Given the description of an element on the screen output the (x, y) to click on. 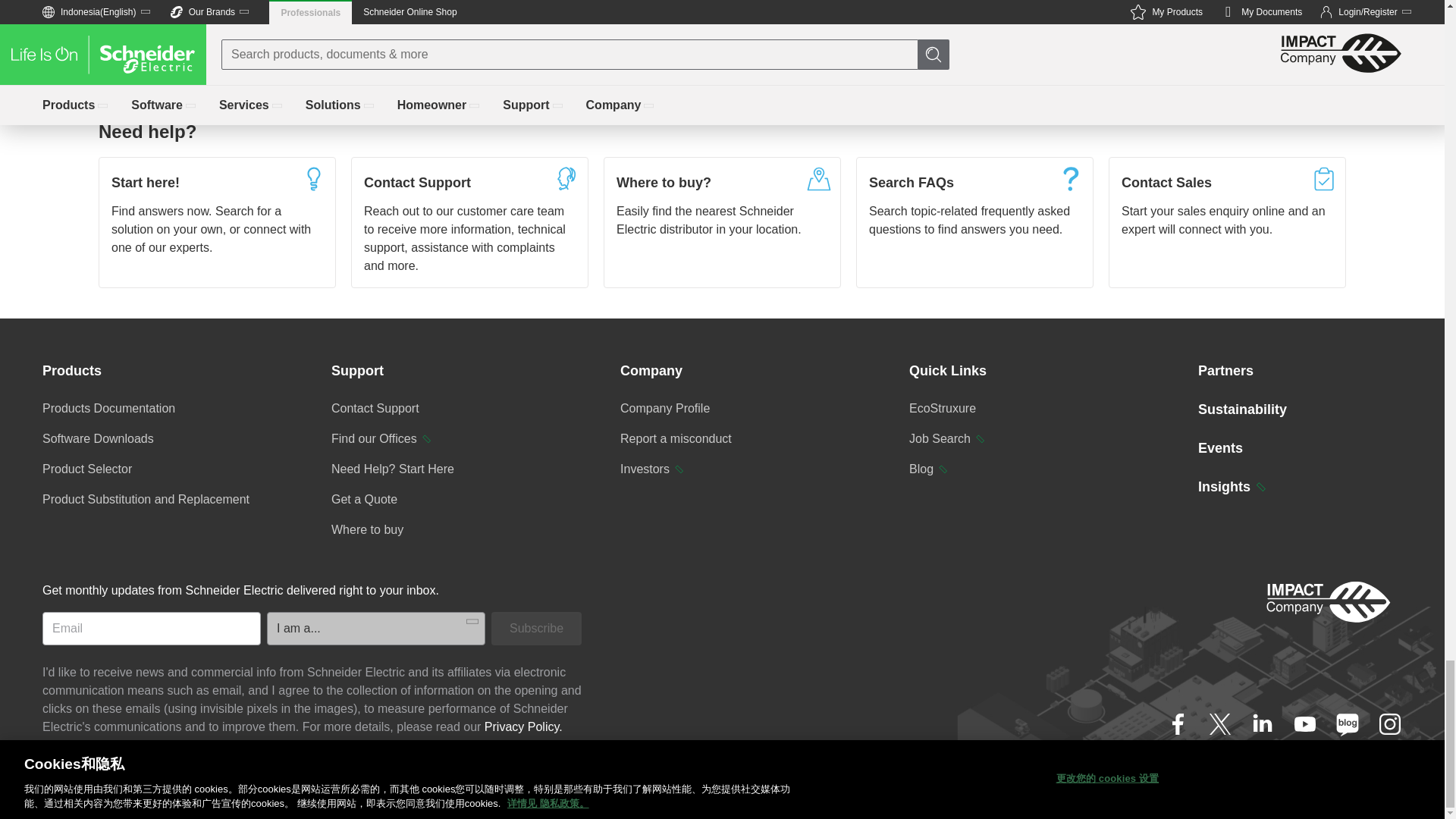
Software Downloads (98, 438)
Products Documentation (108, 408)
Product Substitution and Replacement (145, 499)
Product Selector (87, 469)
